Given the description of an element on the screen output the (x, y) to click on. 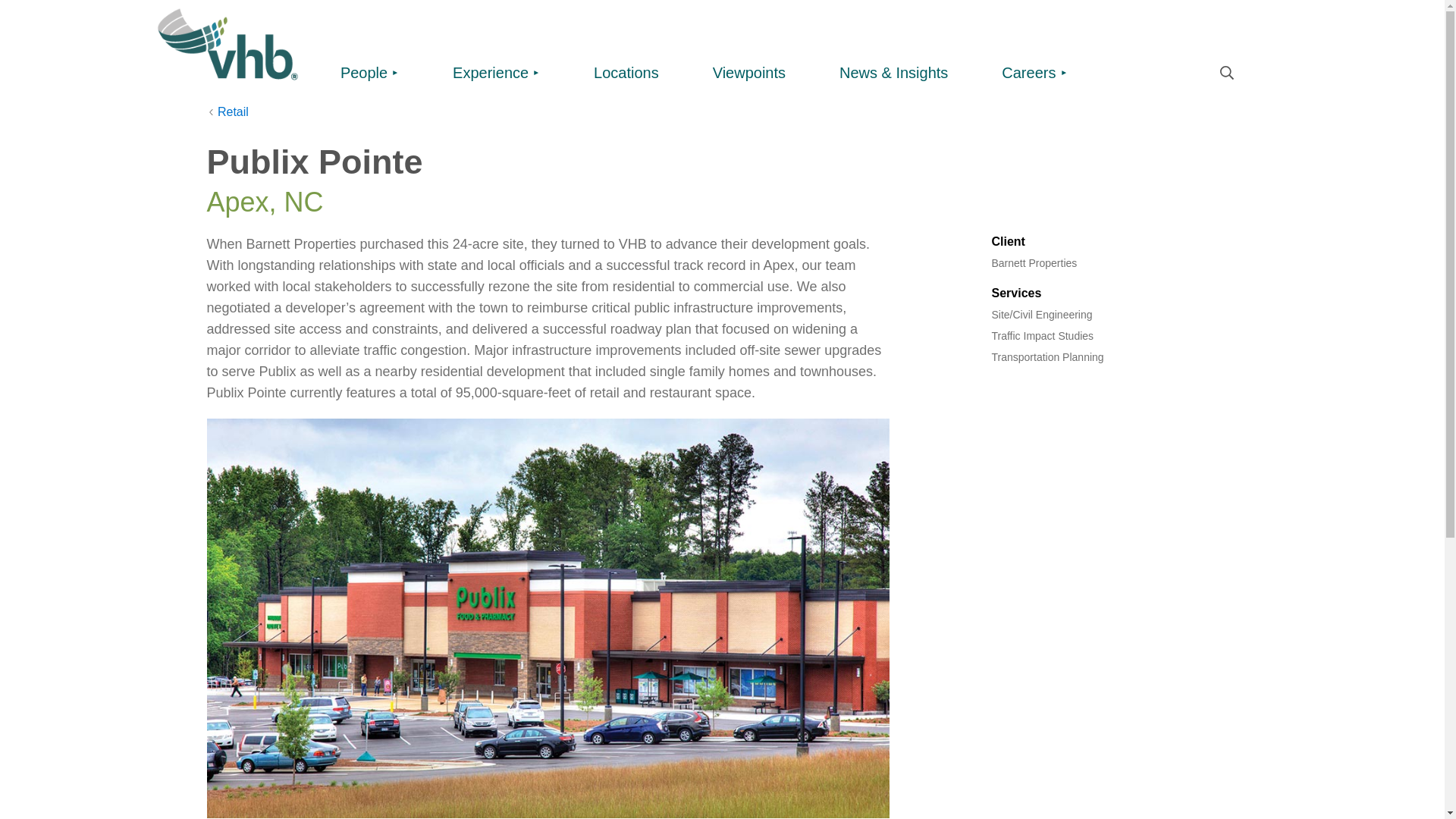
Locations (626, 73)
Retail (226, 111)
Viewpoints (749, 73)
